Given the description of an element on the screen output the (x, y) to click on. 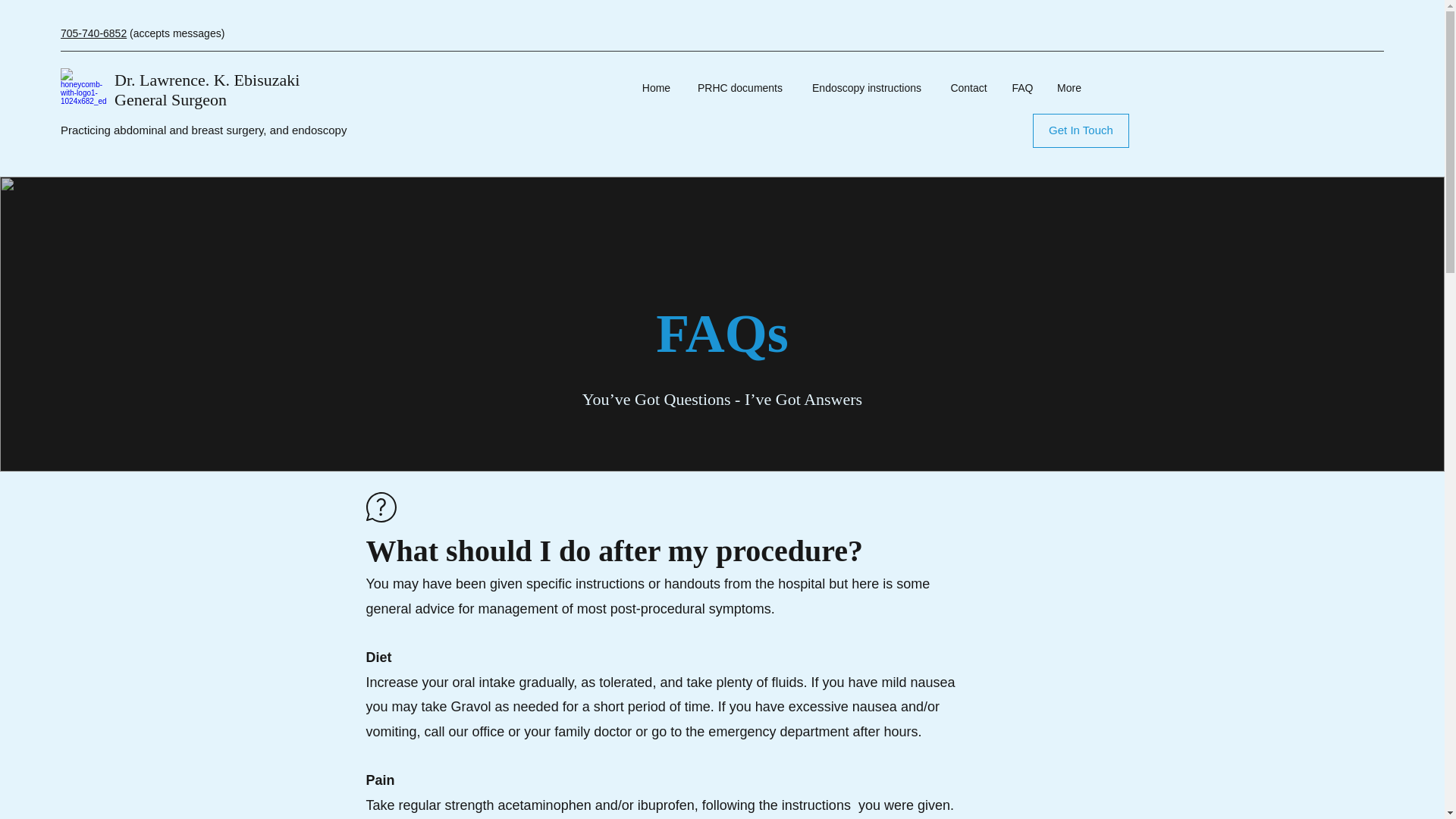
Get In Touch (1080, 130)
FAQ (1023, 87)
Home (656, 87)
705-740-6852 (93, 33)
Endoscopy instructions (866, 87)
General Surgeon (171, 99)
Dr. Lawrence. K. Ebisuzaki (207, 79)
Contact (969, 87)
PRHC documents (740, 87)
